Given the description of an element on the screen output the (x, y) to click on. 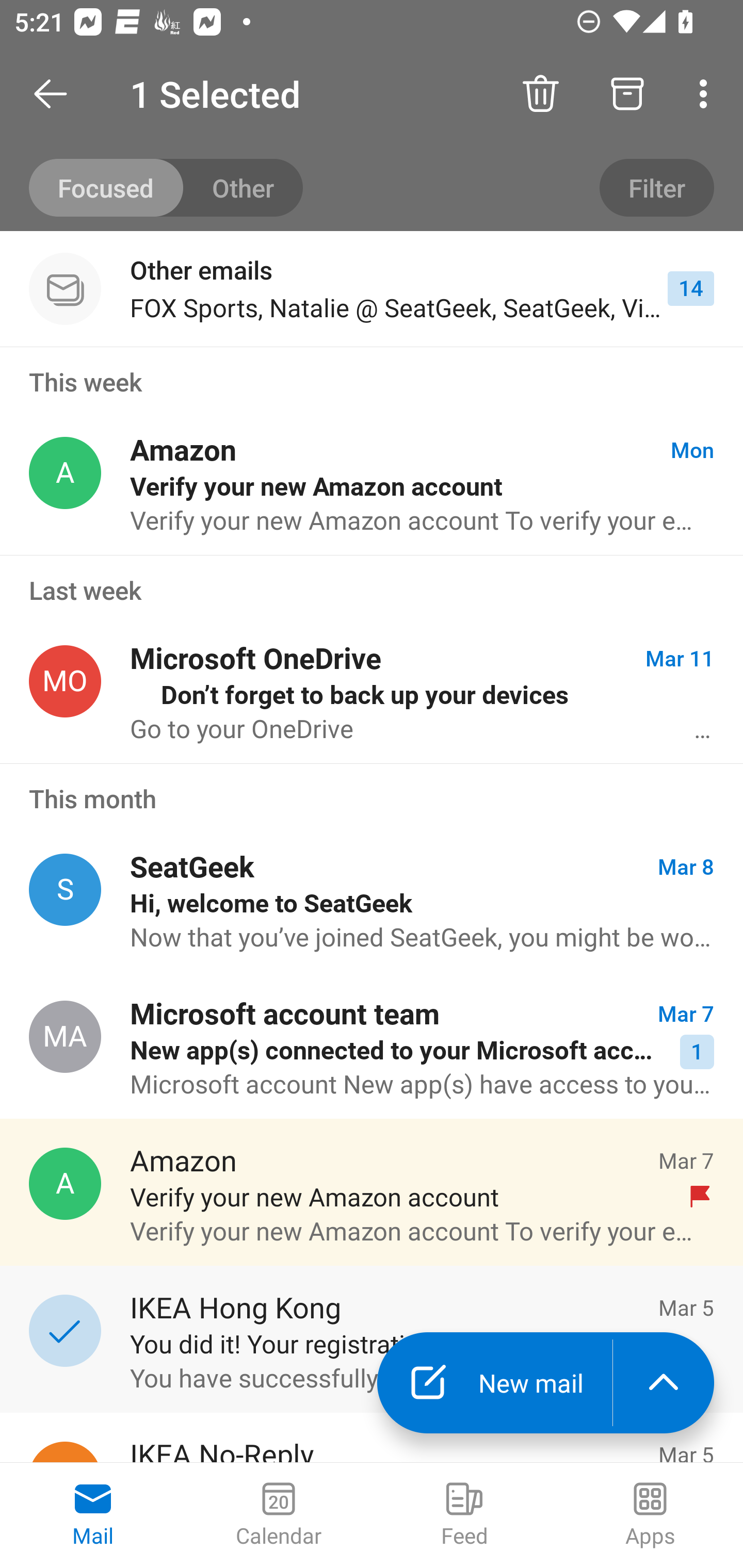
Delete (540, 93)
Archive (626, 93)
More options (706, 93)
Open Navigation Drawer (57, 94)
Toggle to other mails (165, 187)
Filter (656, 187)
Amazon, account-update@amazon.com (64, 473)
SeatGeek, events@seatgeek.com (64, 888)
Amazon, account-update@amazon.com (64, 1183)
New mail (494, 1382)
launch the extended action menu (663, 1382)
Calendar (278, 1515)
Feed (464, 1515)
Apps (650, 1515)
